Given the description of an element on the screen output the (x, y) to click on. 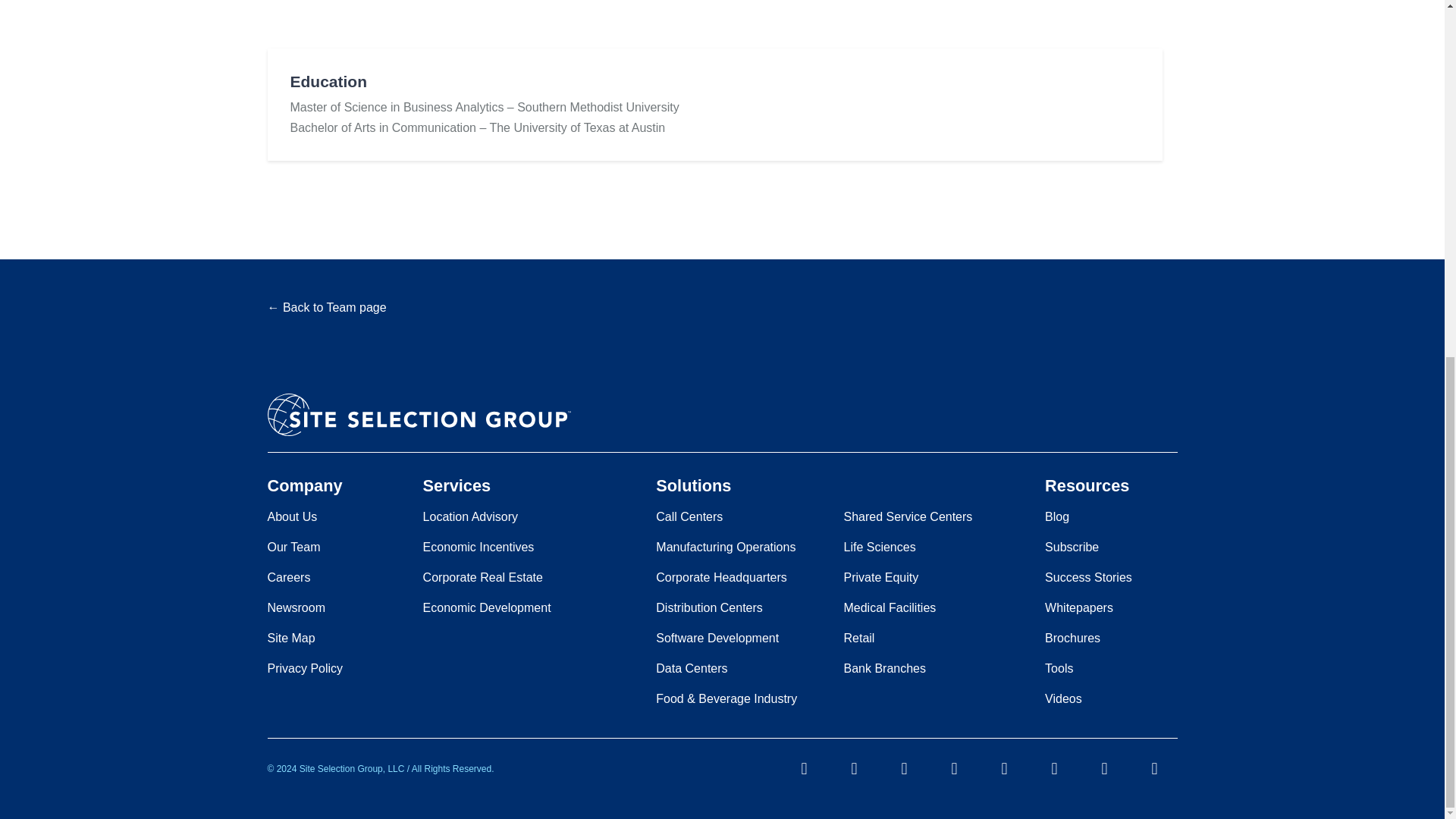
SSG-Horizontal-White (418, 414)
Careers (288, 577)
About Us (291, 517)
Our Team (293, 547)
